Given the description of an element on the screen output the (x, y) to click on. 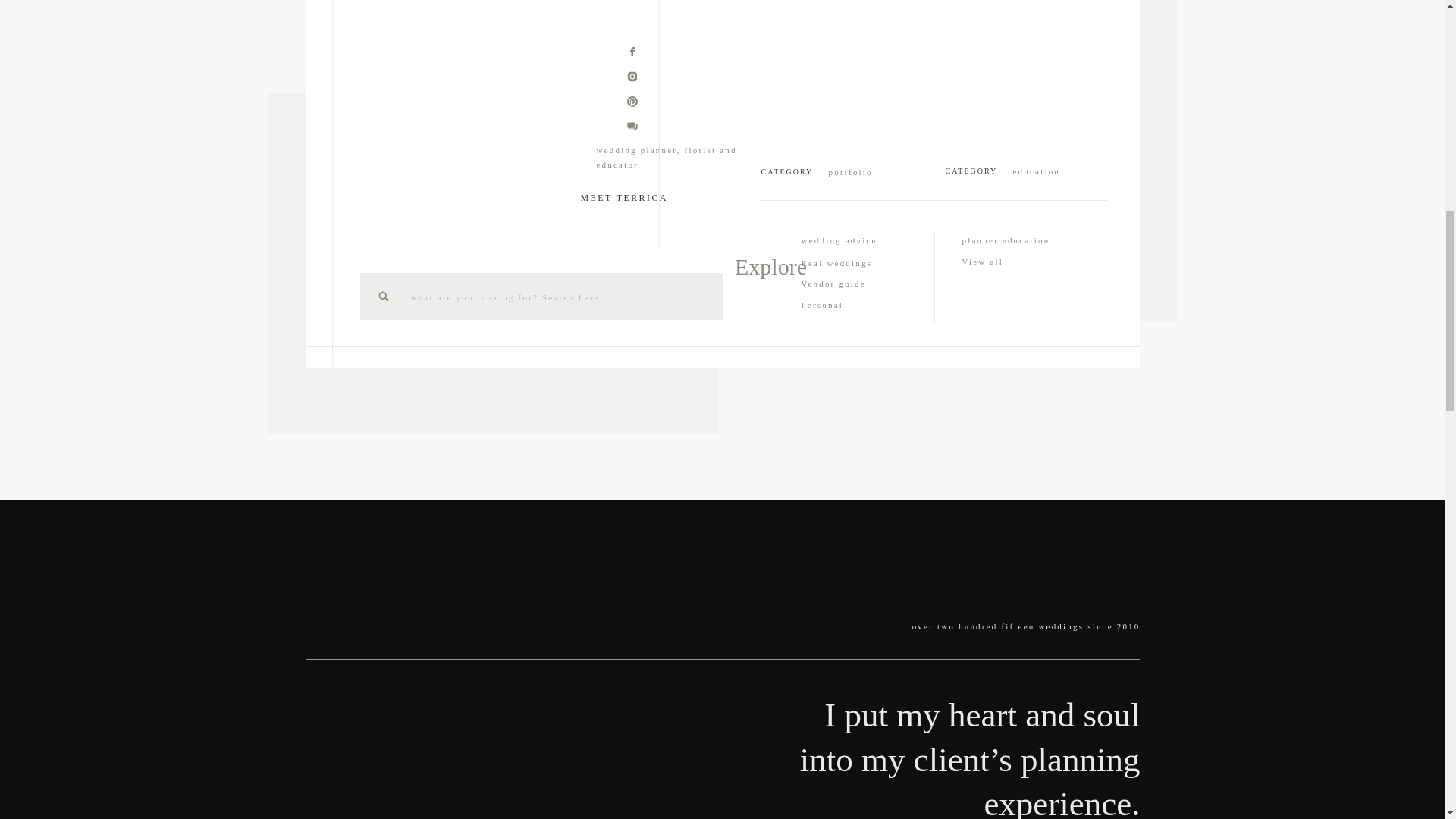
View all (1024, 261)
wedding advice (864, 239)
planner education (1024, 240)
MEET TERRICA (632, 196)
Vendor guide (864, 282)
Personal (864, 303)
portfolio (866, 170)
education (1051, 170)
Real weddings (864, 262)
